Given the description of an element on the screen output the (x, y) to click on. 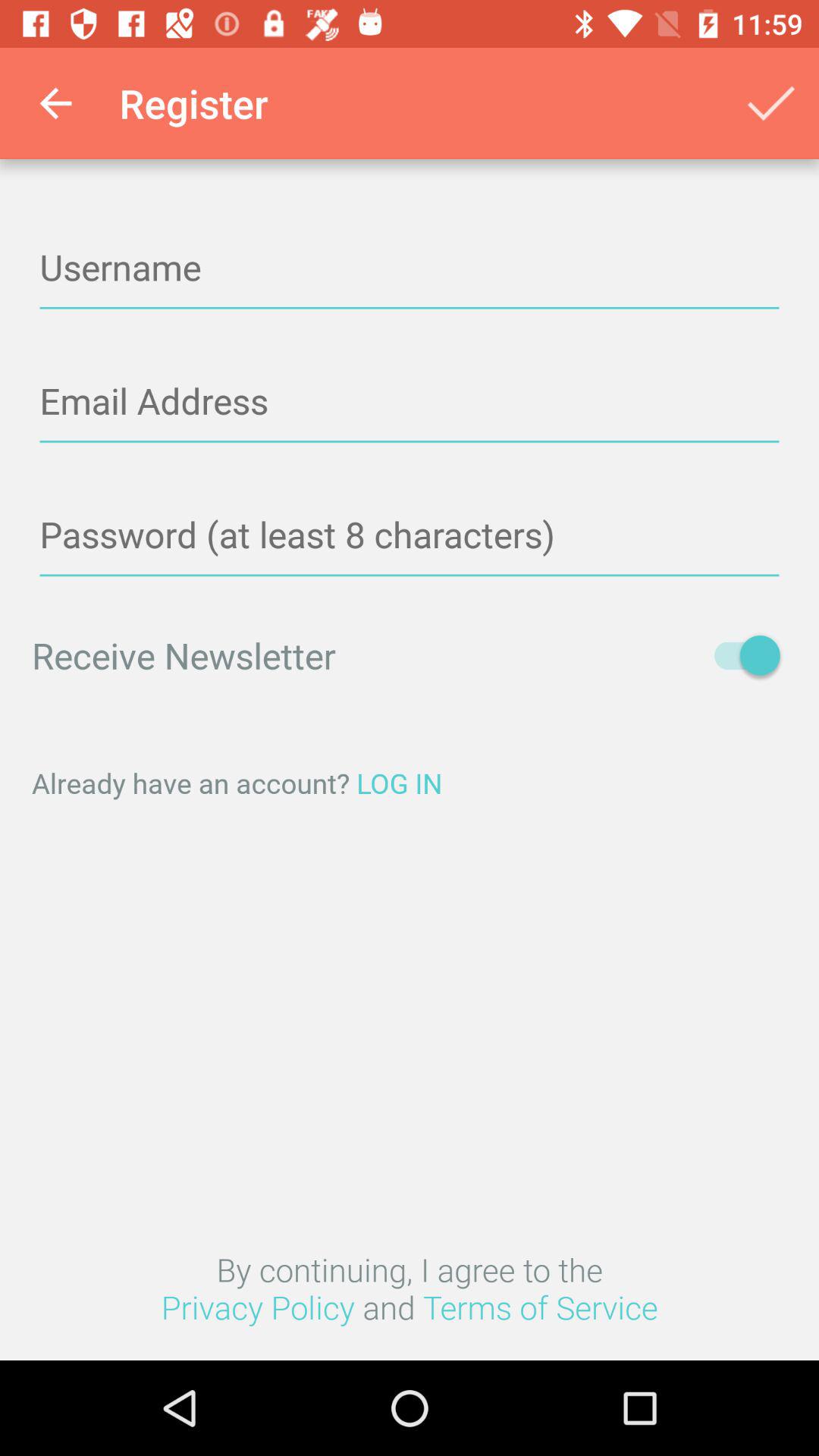
user name (409, 268)
